Given the description of an element on the screen output the (x, y) to click on. 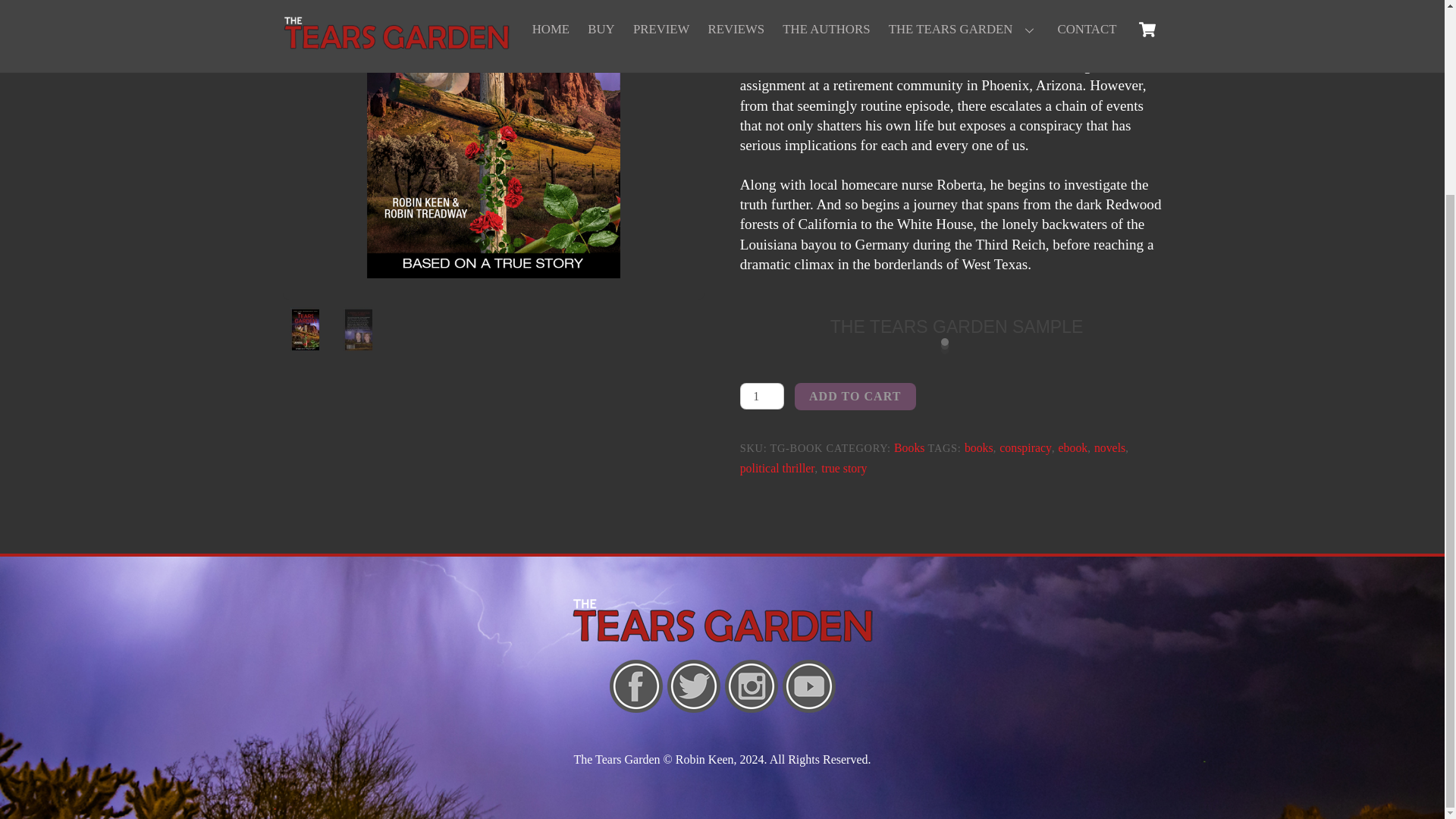
true story (843, 468)
1 (761, 395)
conspiracy (1024, 447)
ebook (1072, 447)
The Tears Garden (721, 619)
political thriller (777, 468)
The Tears Garden (721, 638)
Qty (761, 395)
books (977, 447)
THE TEARS GARDEN SAMPLE (956, 326)
novels (1109, 447)
Books (908, 447)
The Tears Garden Book (493, 149)
ADD TO CART (854, 396)
